Given the description of an element on the screen output the (x, y) to click on. 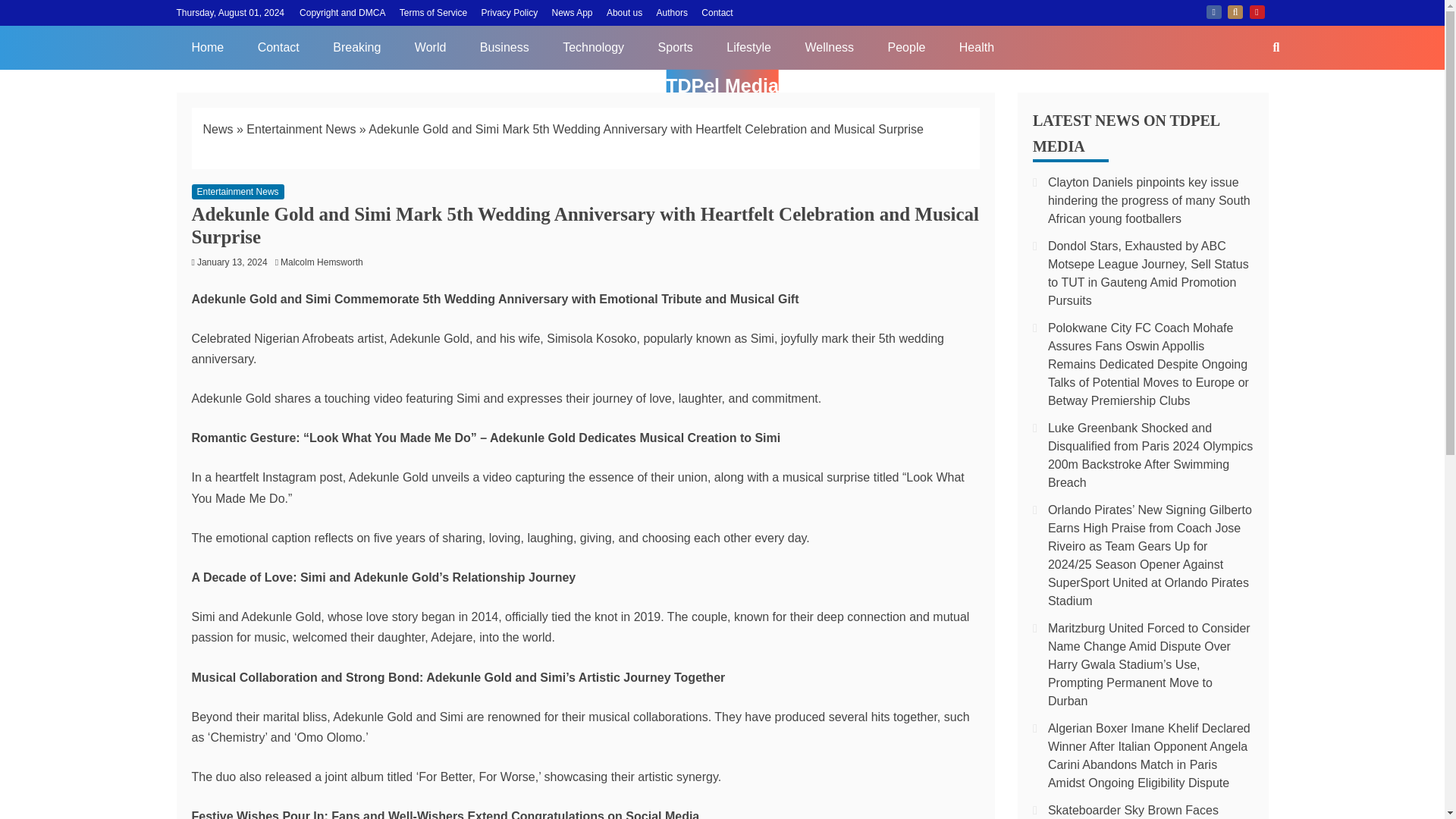
Business (504, 46)
Entertainment News (300, 128)
People (906, 46)
Terms of Service (432, 12)
Malcolm Hemsworth (326, 262)
Entertainment News (236, 191)
Wellness (829, 46)
Health (976, 46)
News (217, 128)
Lifestyle (748, 46)
Facebook (1214, 11)
Copyright and DMCA (342, 12)
Pinterest (1257, 11)
News App (571, 12)
Contact (716, 12)
